Given the description of an element on the screen output the (x, y) to click on. 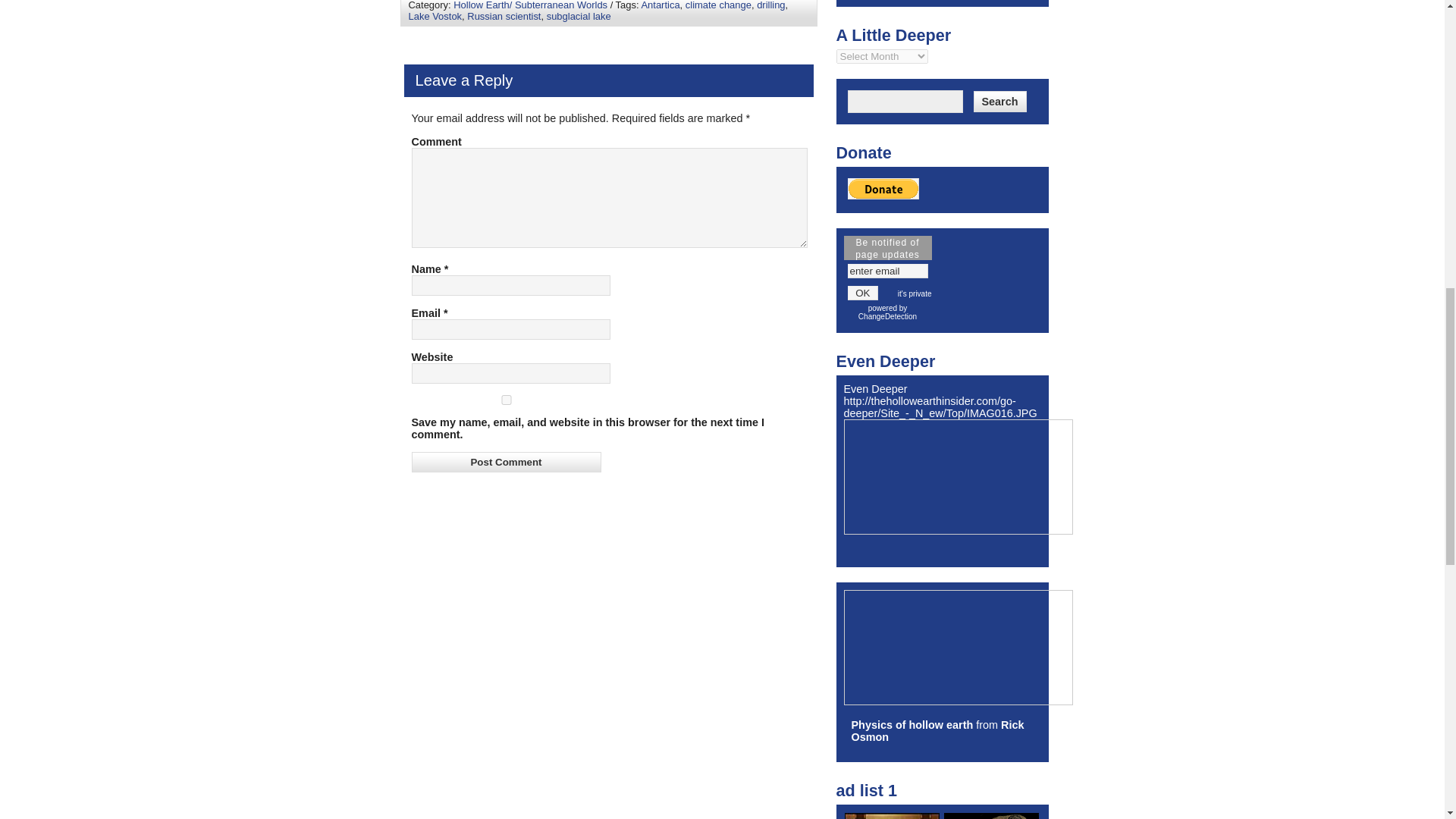
enter email (887, 270)
Search (1000, 101)
Antartica (659, 5)
subglacial lake (579, 16)
Lake Vostok (434, 16)
Post Comment (504, 462)
yes (504, 399)
climate change (718, 5)
Post Comment (504, 462)
 OK  (863, 292)
Russian scientist (503, 16)
Physics of Hollow Earth (911, 725)
drilling (770, 5)
